Given the description of an element on the screen output the (x, y) to click on. 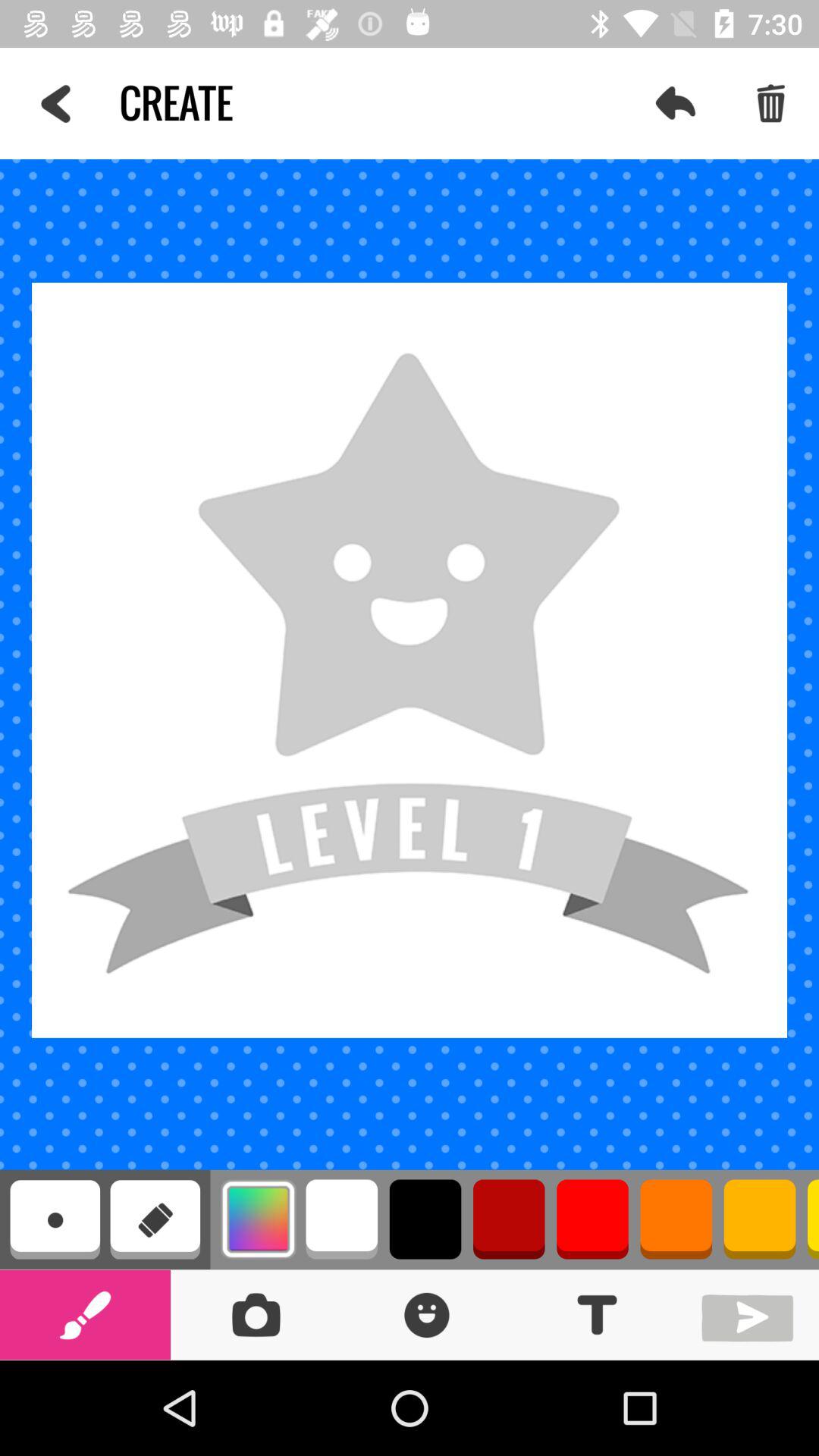
add media (750, 1314)
